Given the description of an element on the screen output the (x, y) to click on. 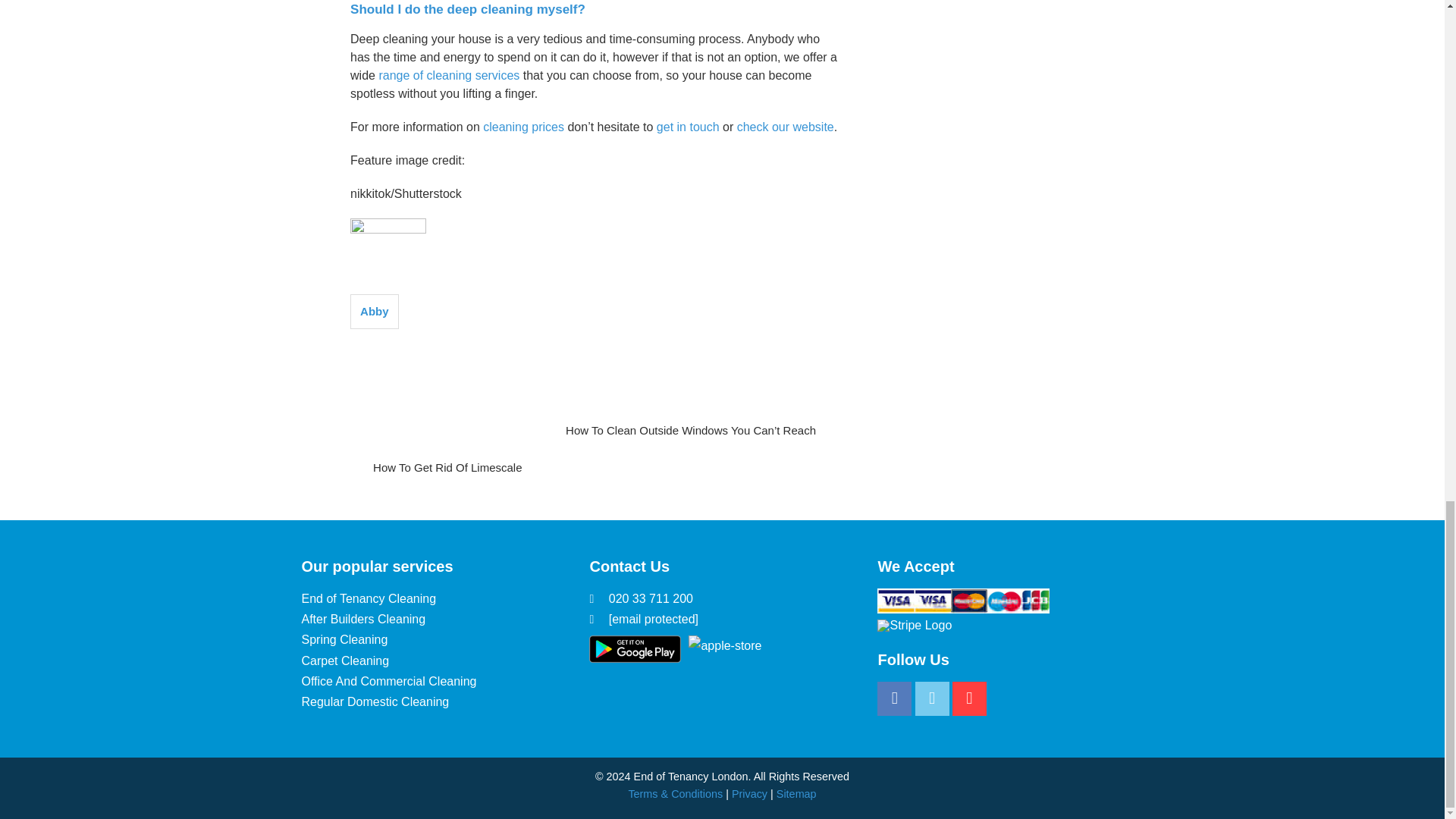
Watch Our YouTube Videos (969, 698)
Privacy Policy (749, 793)
Follow Us On Twitter (932, 698)
Download Our Apple App (724, 648)
Like Us On Facebook (894, 698)
Sitemap (796, 793)
